Given the description of an element on the screen output the (x, y) to click on. 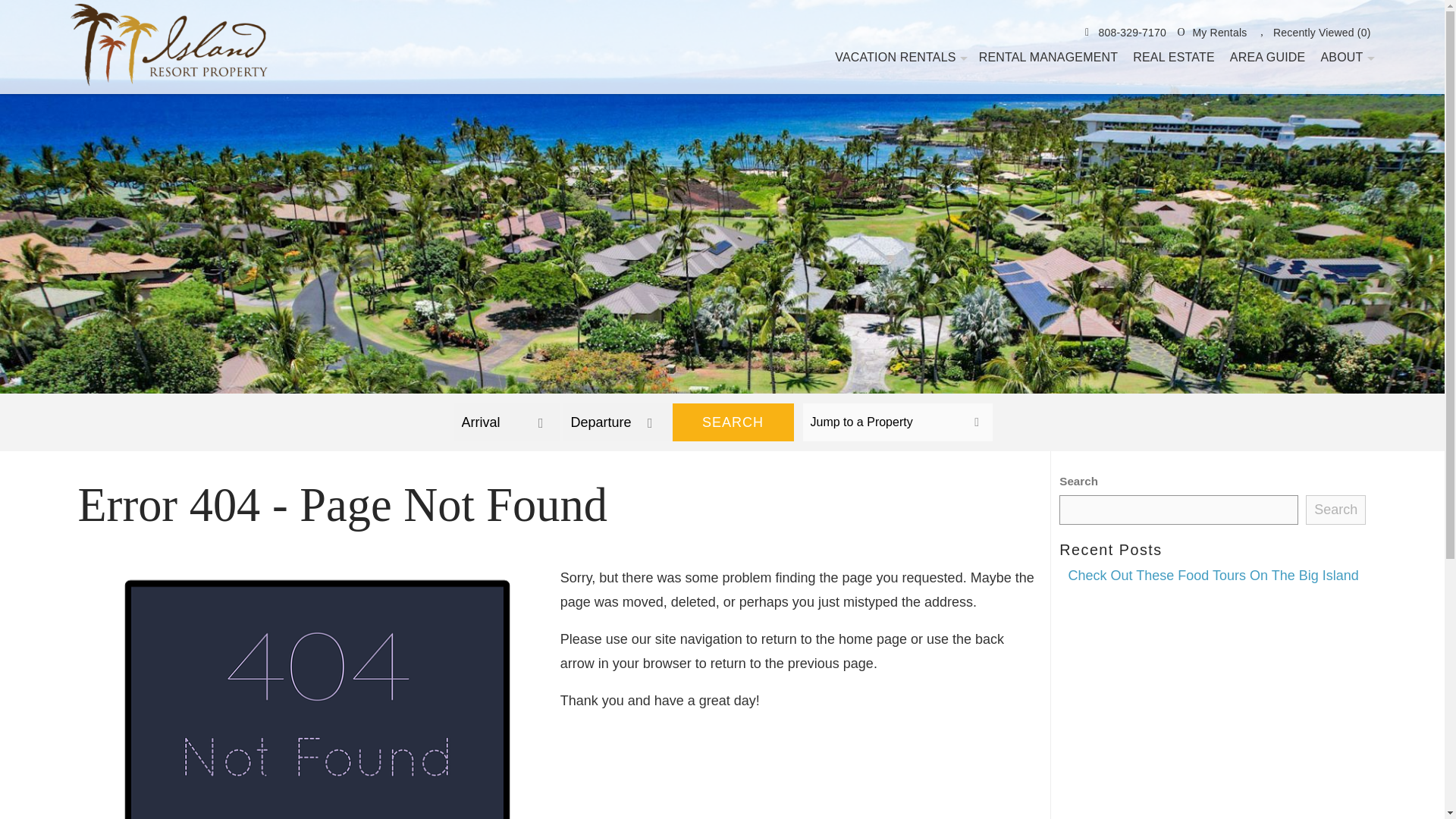
AREA GUIDE (1268, 56)
Search (1335, 509)
search for vacation rentals (622, 422)
REAL ESTATE (1173, 56)
SEARCH (732, 422)
808-329-7170 (1123, 32)
VACATION RENTALS (898, 56)
RENTAL MANAGEMENT (1048, 56)
Your favorite units (1209, 32)
My Rentals (1209, 32)
